Given the description of an element on the screen output the (x, y) to click on. 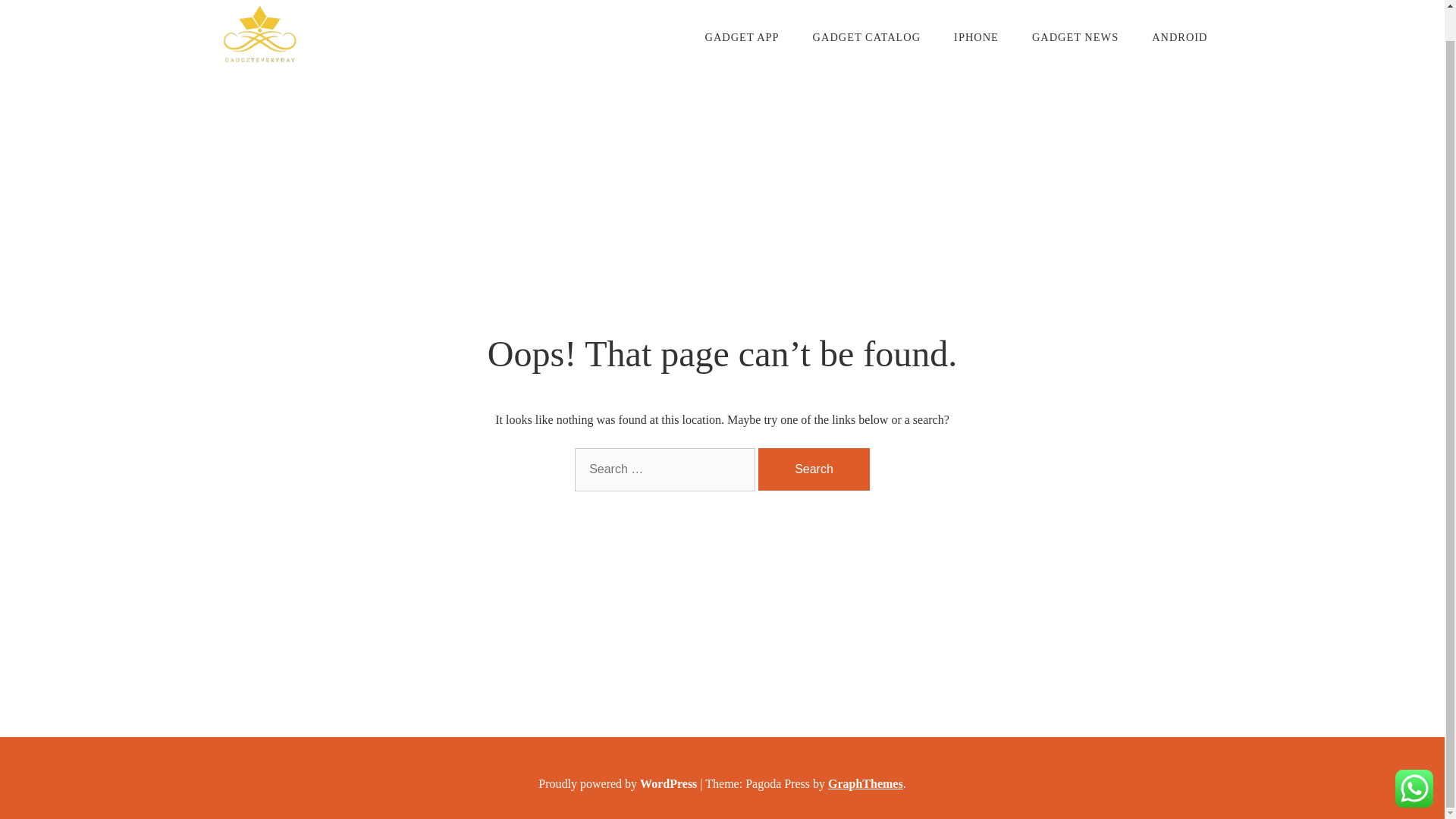
Search (813, 468)
GADGET CATALOG (866, 37)
ANDROID (1180, 37)
Search (56, 5)
GADGET APP (742, 37)
Search (813, 468)
IPHONE (976, 37)
Search (813, 468)
Proudly powered by WordPress (619, 783)
GADGET NEWS (1075, 37)
